Given the description of an element on the screen output the (x, y) to click on. 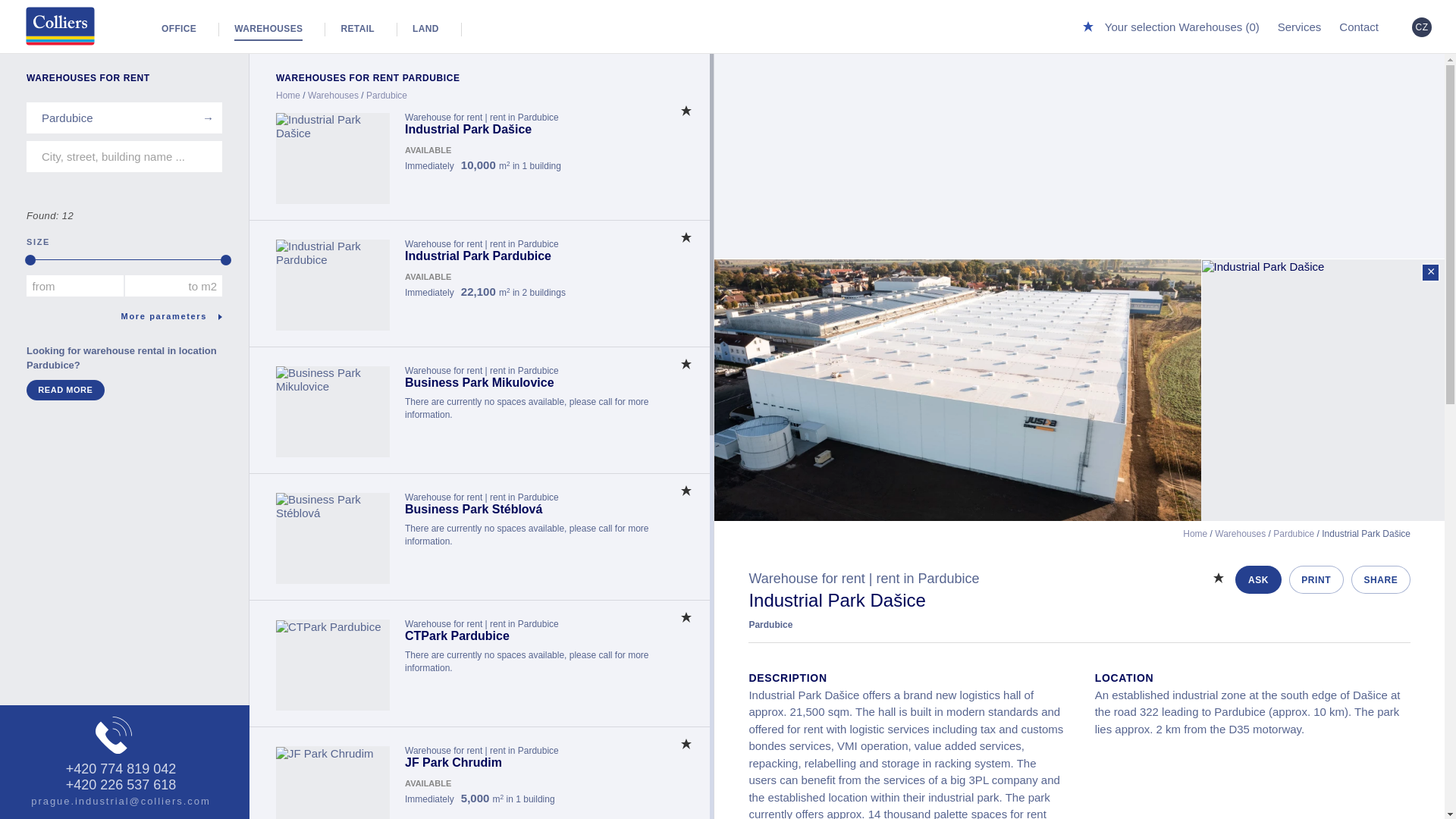
Home (287, 95)
Add to selection (686, 364)
Warehouses for rent (268, 20)
Warehouses (332, 95)
Warehouses for rent (60, 25)
Add to selection (686, 618)
Contact (1358, 19)
Industrial Park Pardubice (333, 252)
Business Park Mikulovice (333, 379)
Add to selection (686, 238)
